Given the description of an element on the screen output the (x, y) to click on. 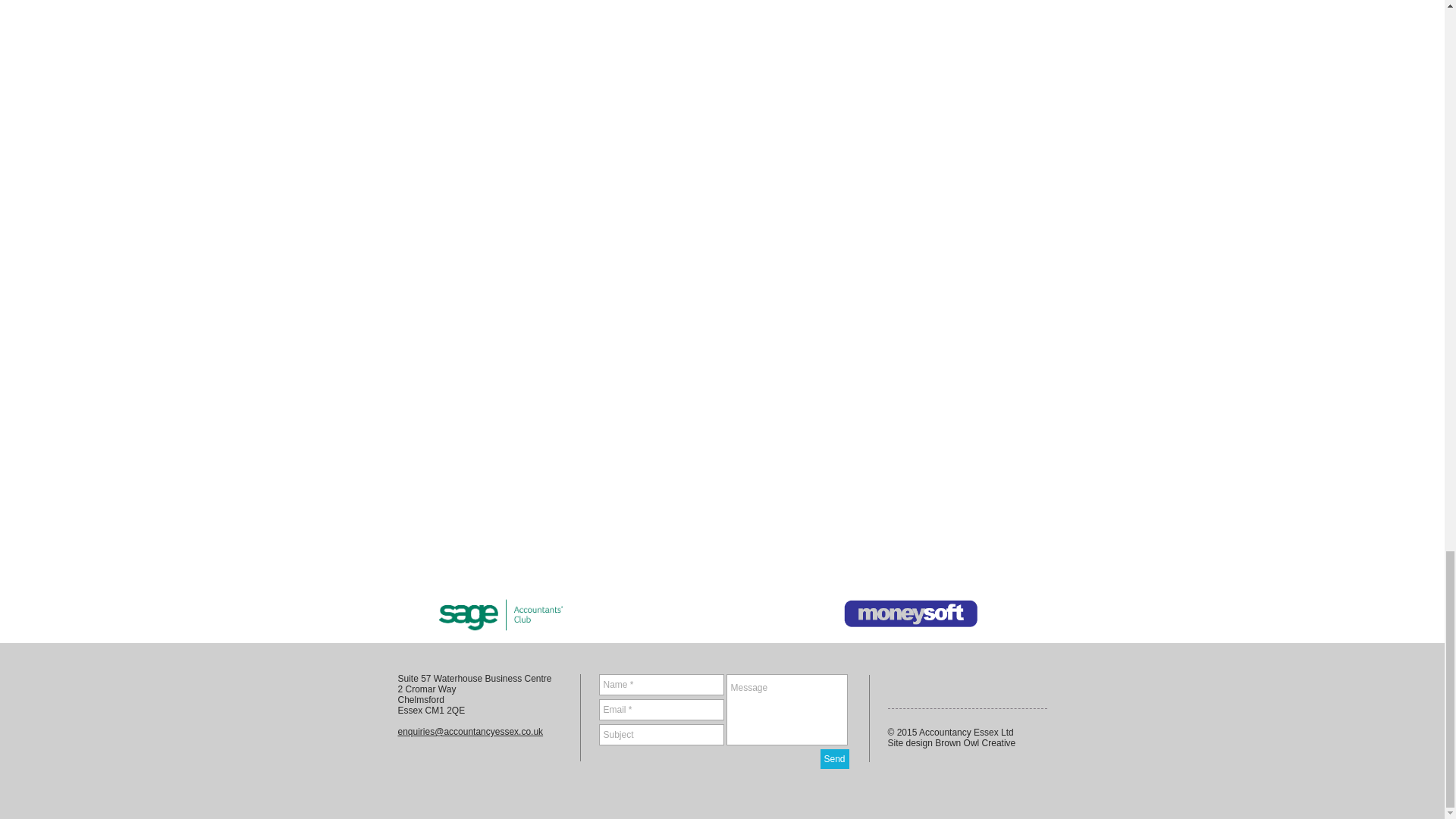
Send (834, 759)
Accountant Essex (501, 613)
Brown Owl Creative (974, 742)
Accountant Essex (910, 613)
